Given the description of an element on the screen output the (x, y) to click on. 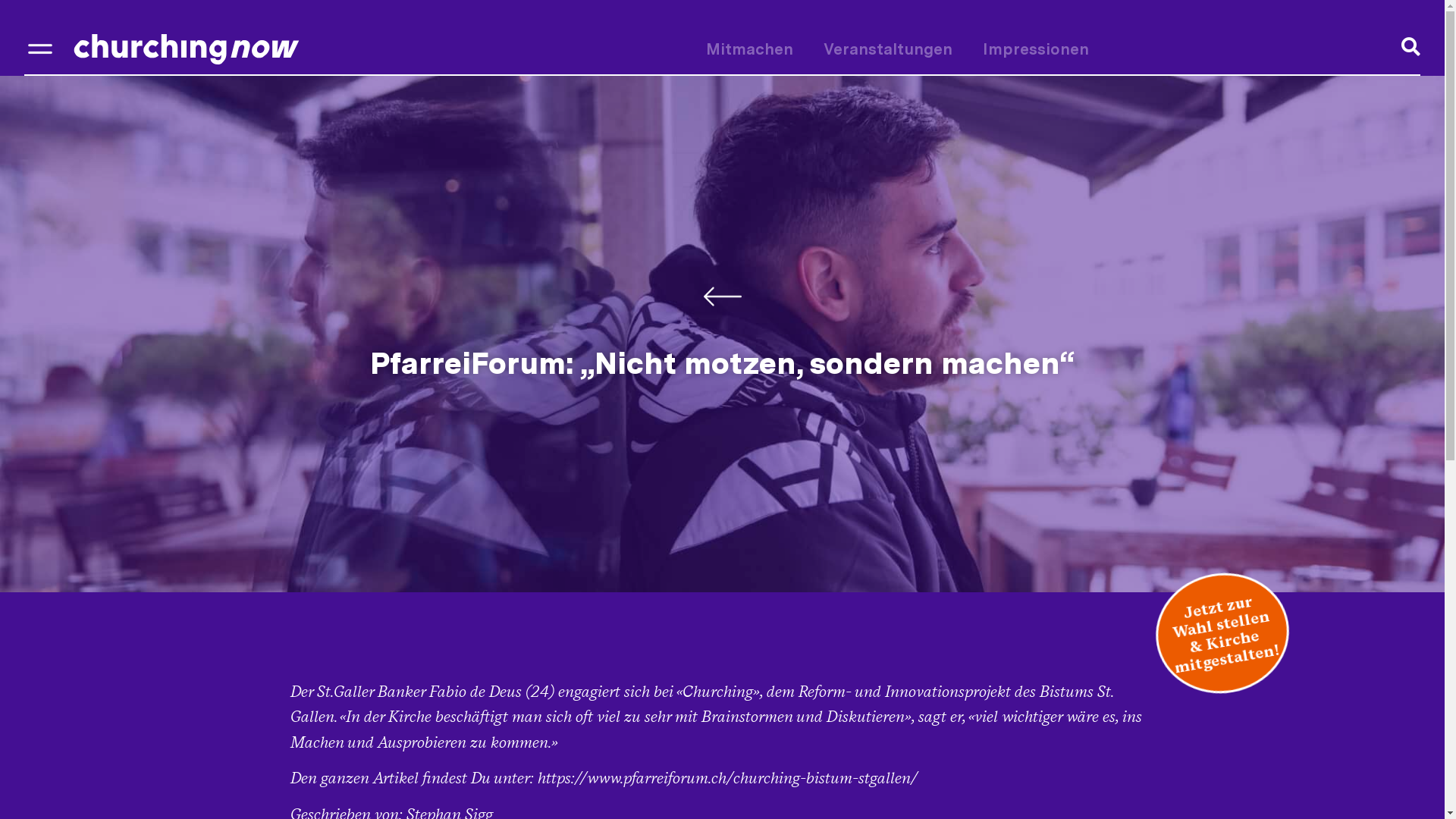
Jetzt zur
Wahl stellen
& Kirche
mitgestalten! Element type: text (1213, 622)
Mitmachen Element type: text (749, 48)
https://www.pfarreiforum.ch/churching-bistum-stgallen/ Element type: text (726, 777)
Veranstaltungen Element type: text (887, 48)
Impressionen Element type: text (1035, 48)
